Given the description of an element on the screen output the (x, y) to click on. 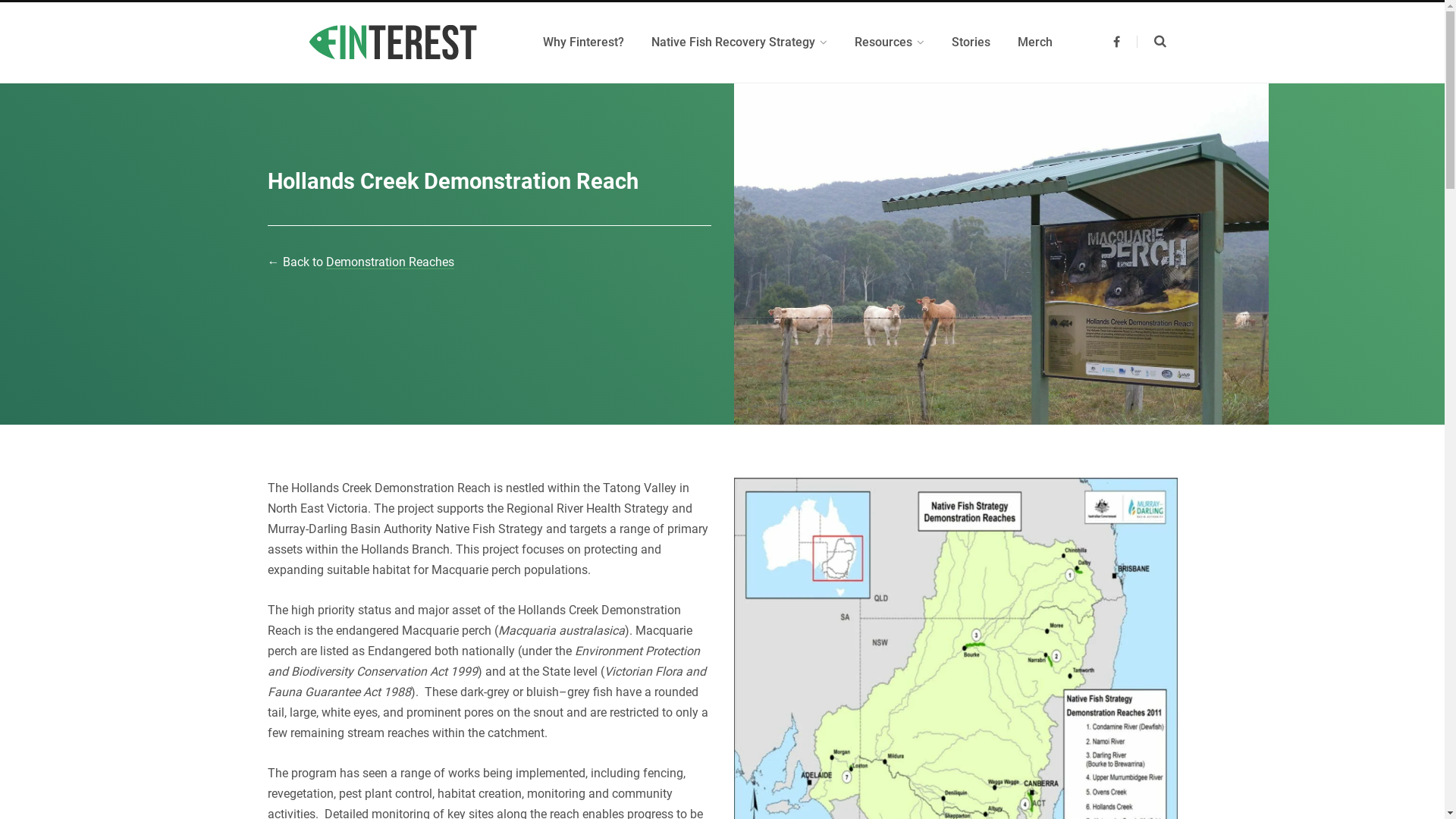
Finterest Element type: hover (392, 42)
Stories Element type: text (970, 42)
Resources Element type: text (888, 42)
Demonstration Reaches Element type: text (390, 261)
Native Fish Recovery Strategy Element type: text (738, 42)
Why Finterest? Element type: text (583, 42)
Search Element type: hover (1150, 41)
DSCN7787-Holland-Creek-Signage Element type: hover (1001, 283)
Facebook Element type: text (1116, 41)
Merch Element type: text (1035, 42)
